Given the description of an element on the screen output the (x, y) to click on. 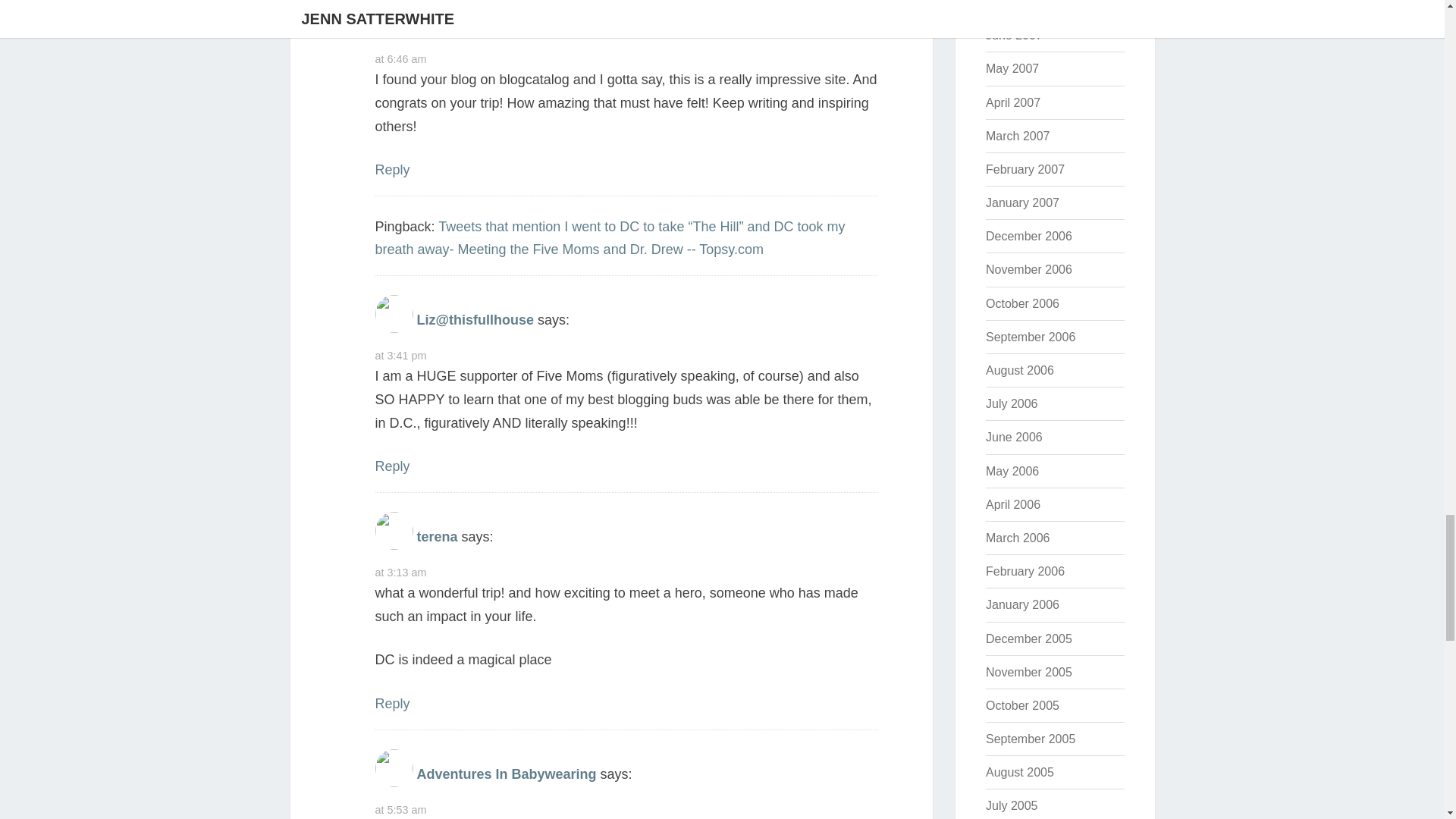
at 3:41 pm (400, 355)
at 6:46 am (400, 59)
Reply (391, 466)
Reply (391, 169)
Kristi (433, 23)
